Given the description of an element on the screen output the (x, y) to click on. 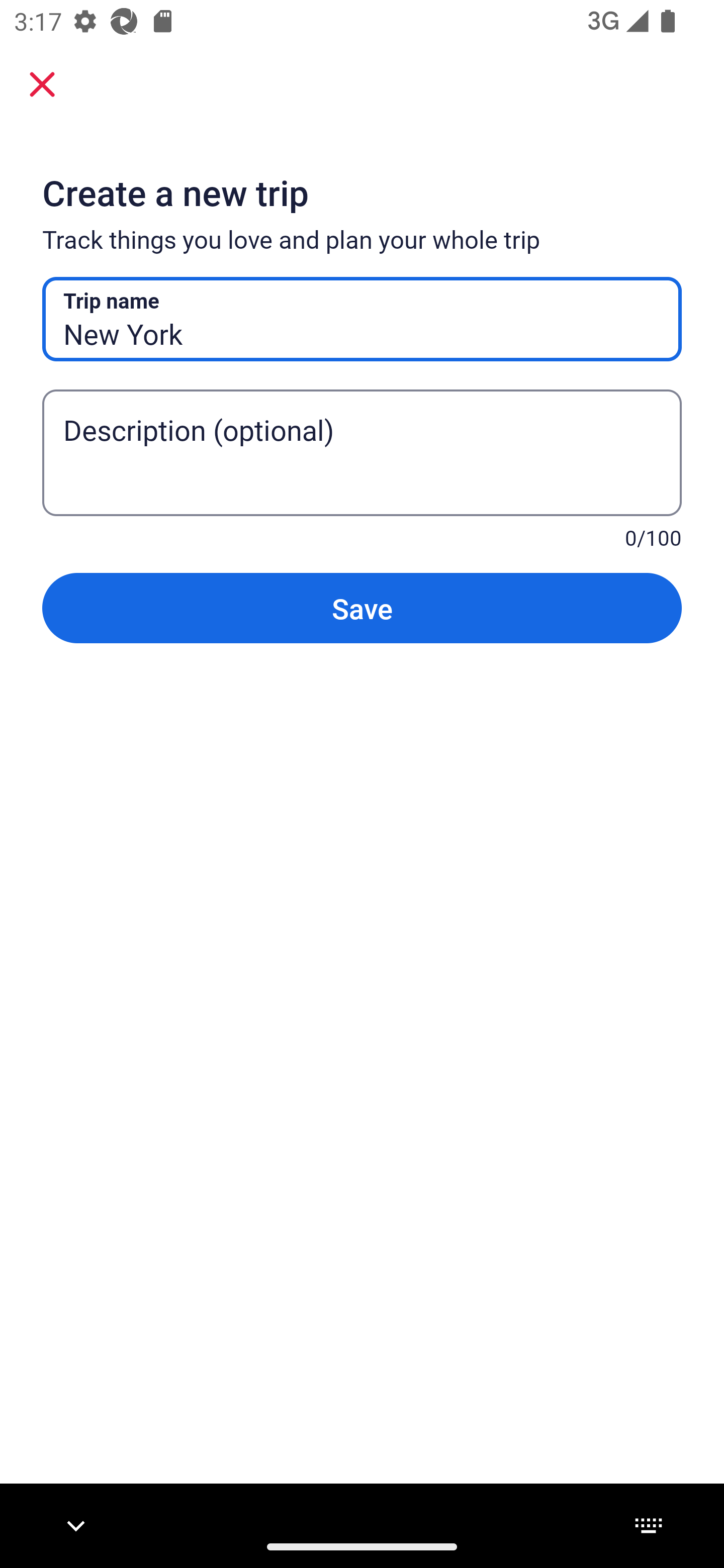
Close (41, 83)
New York Trip name Trip name (361, 318)
Save Button Save (361, 607)
